Given the description of an element on the screen output the (x, y) to click on. 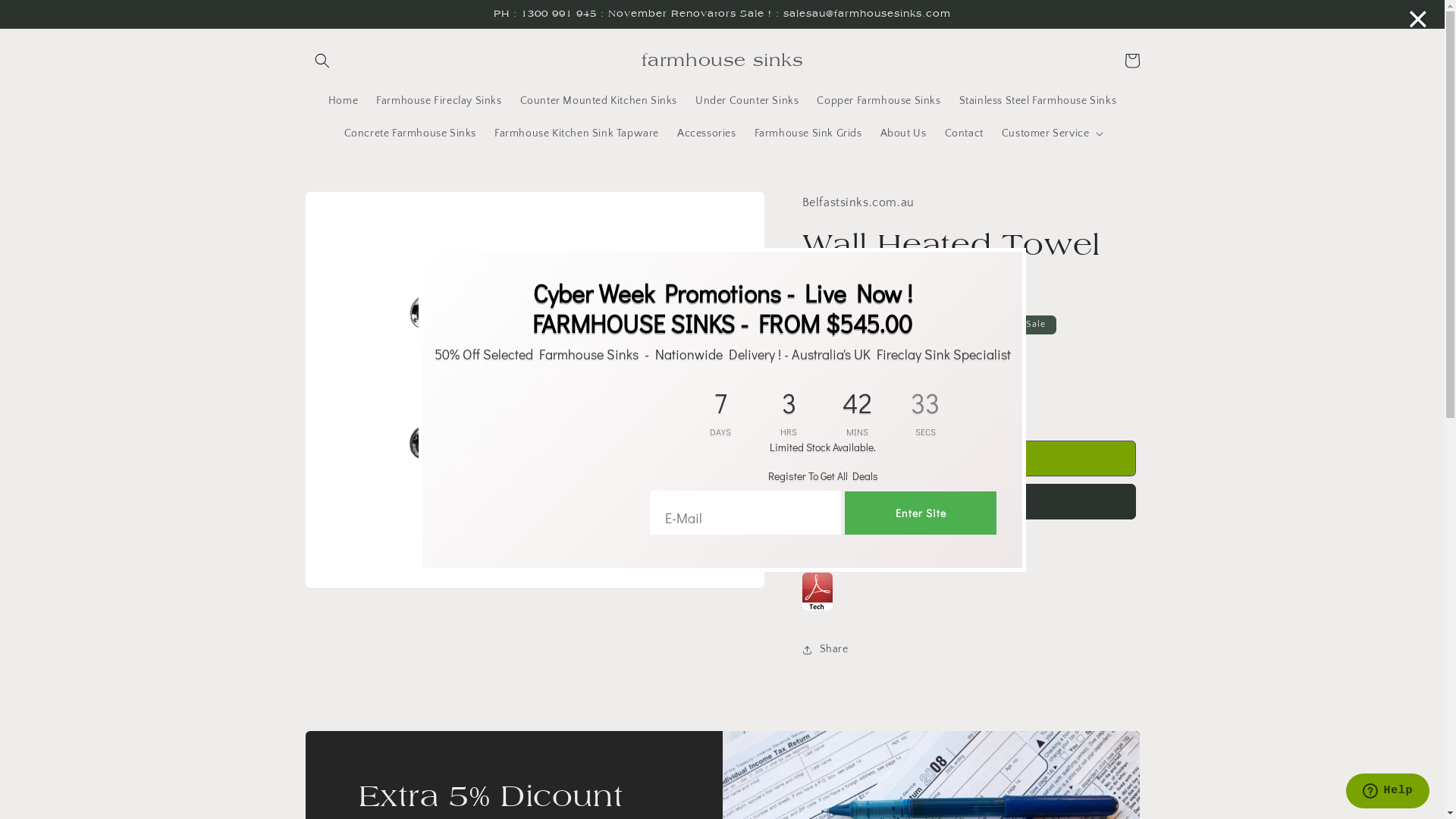
Shipping Element type: text (822, 347)
Decrease quantity for Wall Heated Towel Rail Rack Element type: text (819, 403)
Add to cart Element type: text (968, 458)
Concrete Farmhouse Sinks Element type: text (410, 133)
Cart Element type: text (1131, 60)
About Us Element type: text (903, 133)
Skip to product information Element type: text (350, 208)
Farmhouse Sink Grids Element type: text (808, 133)
Accessories Element type: text (706, 133)
Increase quantity for Wall Heated Towel Rail Rack Element type: text (892, 403)
Contact Element type: text (963, 133)
Farmhouse Fireclay Sinks Element type: text (438, 100)
Opens a widget where you can chat to one of our agents Element type: hover (1387, 792)
farmhouse sinks Element type: text (722, 60)
Stainless Steel Farmhouse Sinks Element type: text (1038, 100)
Farmhouse Kitchen Sink Tapware Element type: text (576, 133)
Home Element type: text (343, 100)
Under Counter Sinks Element type: text (746, 100)
Copper Farmhouse Sinks Element type: text (878, 100)
Counter Mounted Kitchen Sinks Element type: text (598, 100)
